Given the description of an element on the screen output the (x, y) to click on. 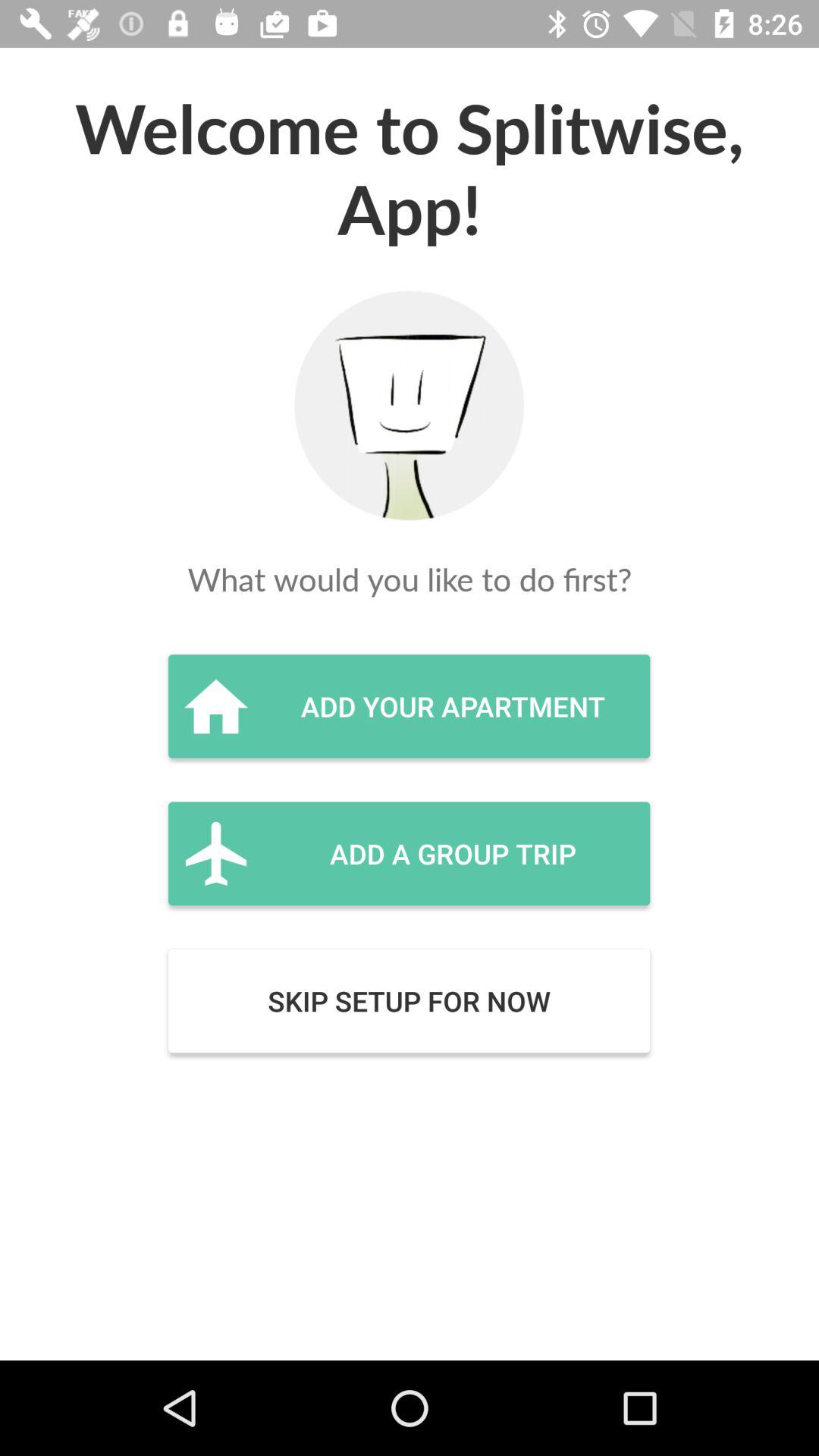
jump until the add a group icon (409, 853)
